Given the description of an element on the screen output the (x, y) to click on. 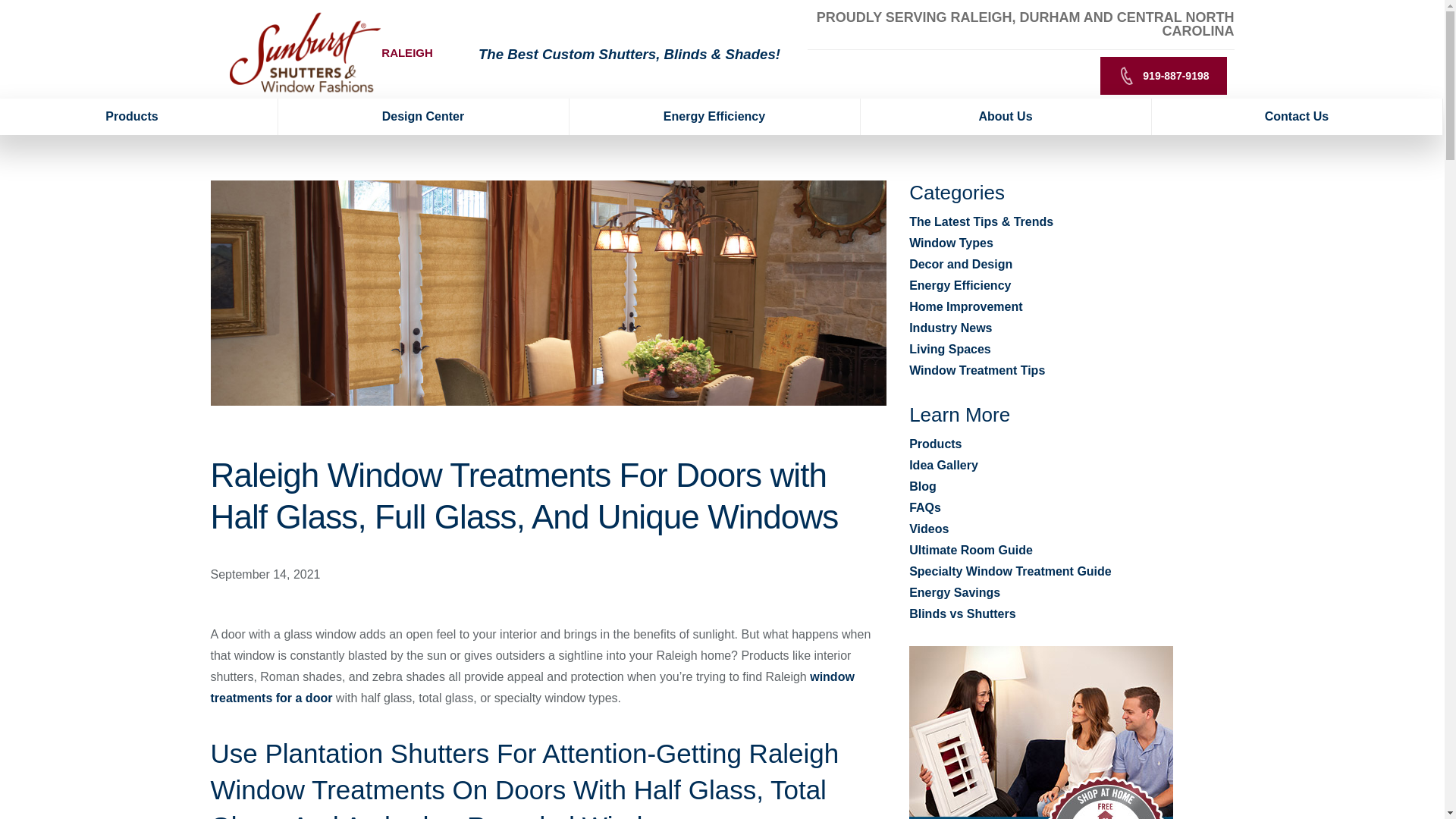
Products (139, 116)
Design Center (423, 116)
Sunburst Shutters Raleigh Home (304, 52)
919-887-9198 (1162, 75)
